Given the description of an element on the screen output the (x, y) to click on. 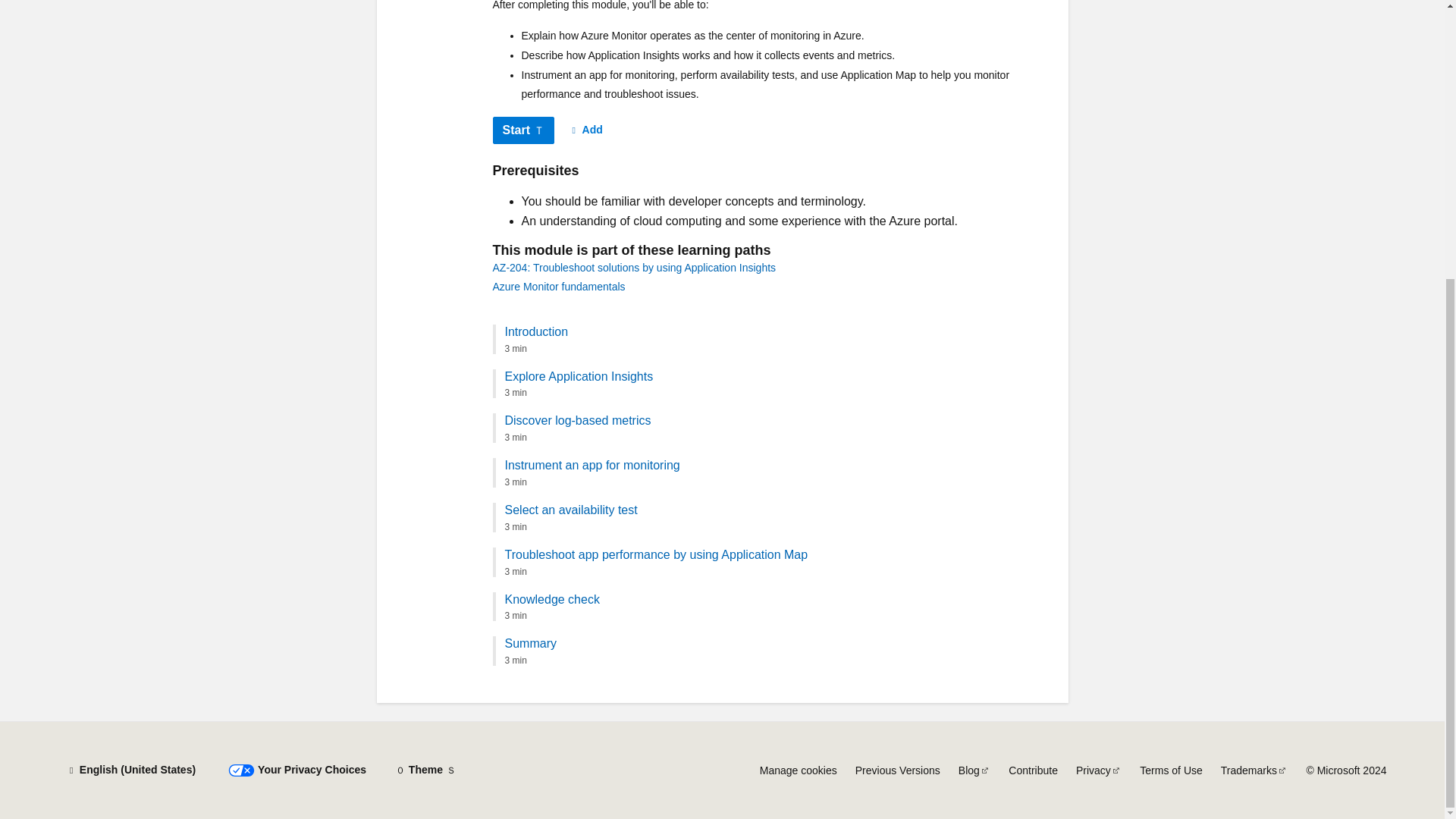
Theme (425, 770)
